Given the description of an element on the screen output the (x, y) to click on. 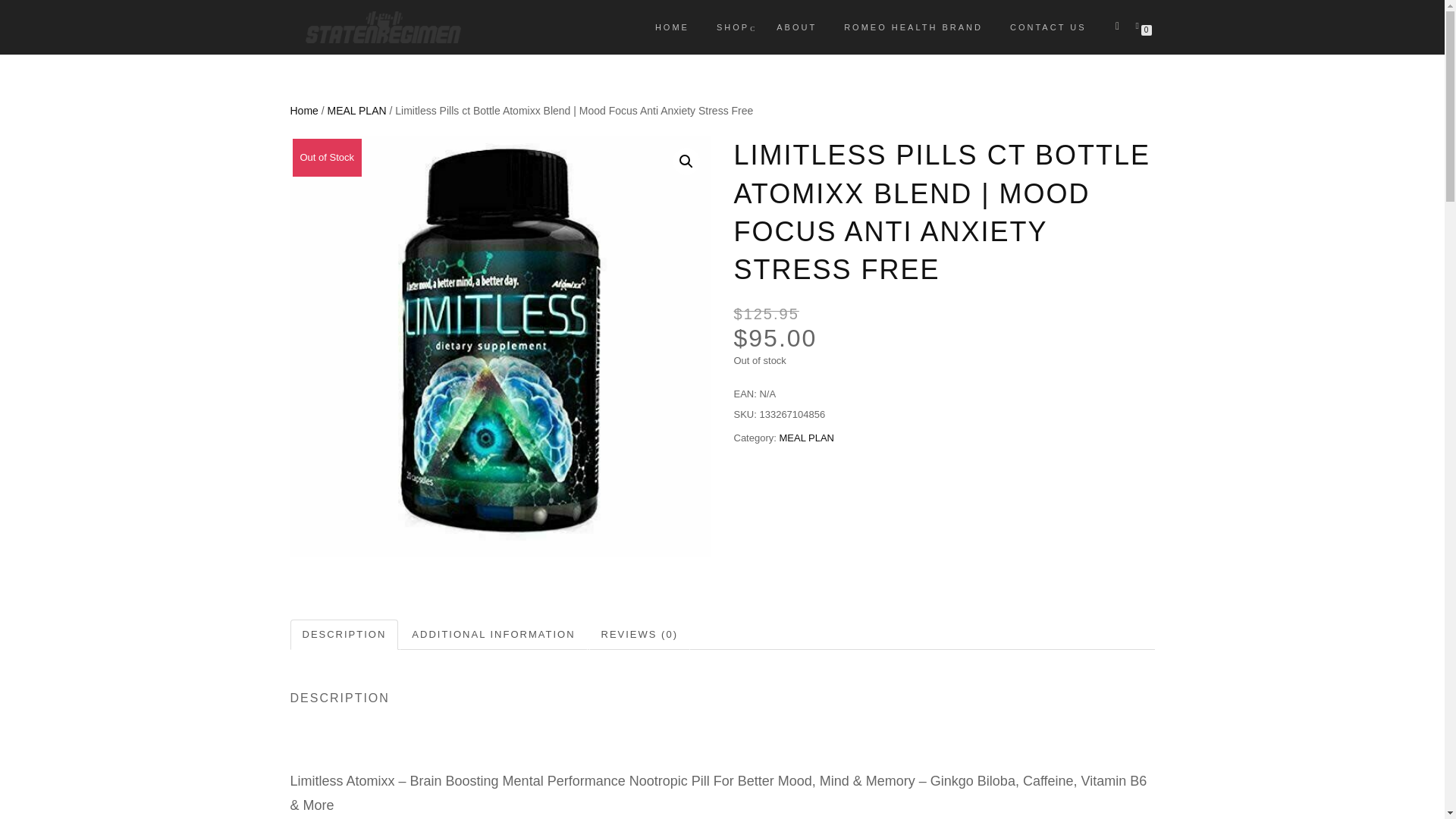
MEAL PLAN (806, 437)
ROMEO HEALTH BRAND (913, 26)
DESCRIPTION (343, 634)
HOME (671, 26)
ADDITIONAL INFORMATION (492, 634)
SHOP (732, 26)
CONTACT US (1047, 26)
Home (303, 110)
